Given the description of an element on the screen output the (x, y) to click on. 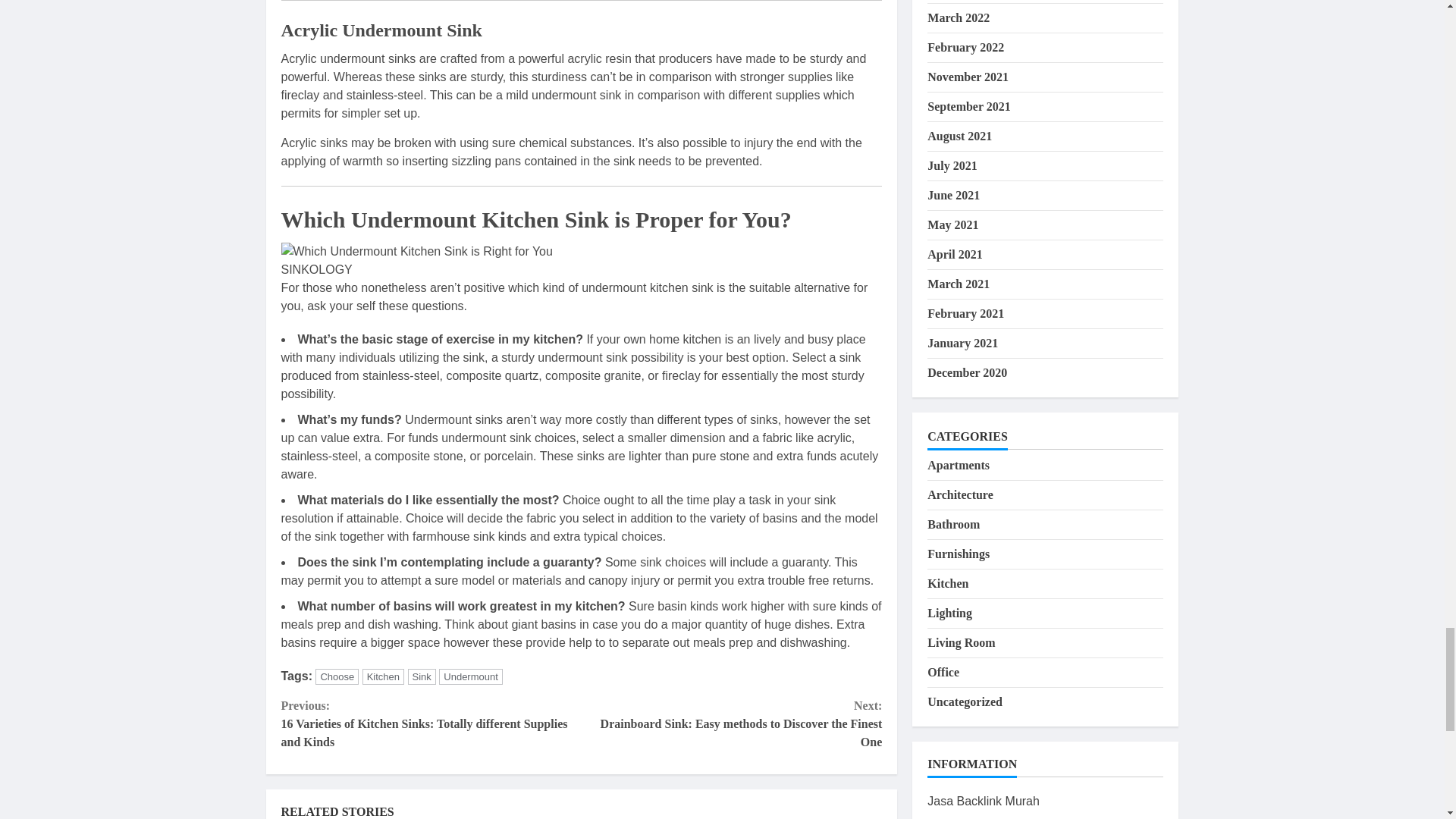
Choose (336, 676)
Kitchen (383, 676)
